Given the description of an element on the screen output the (x, y) to click on. 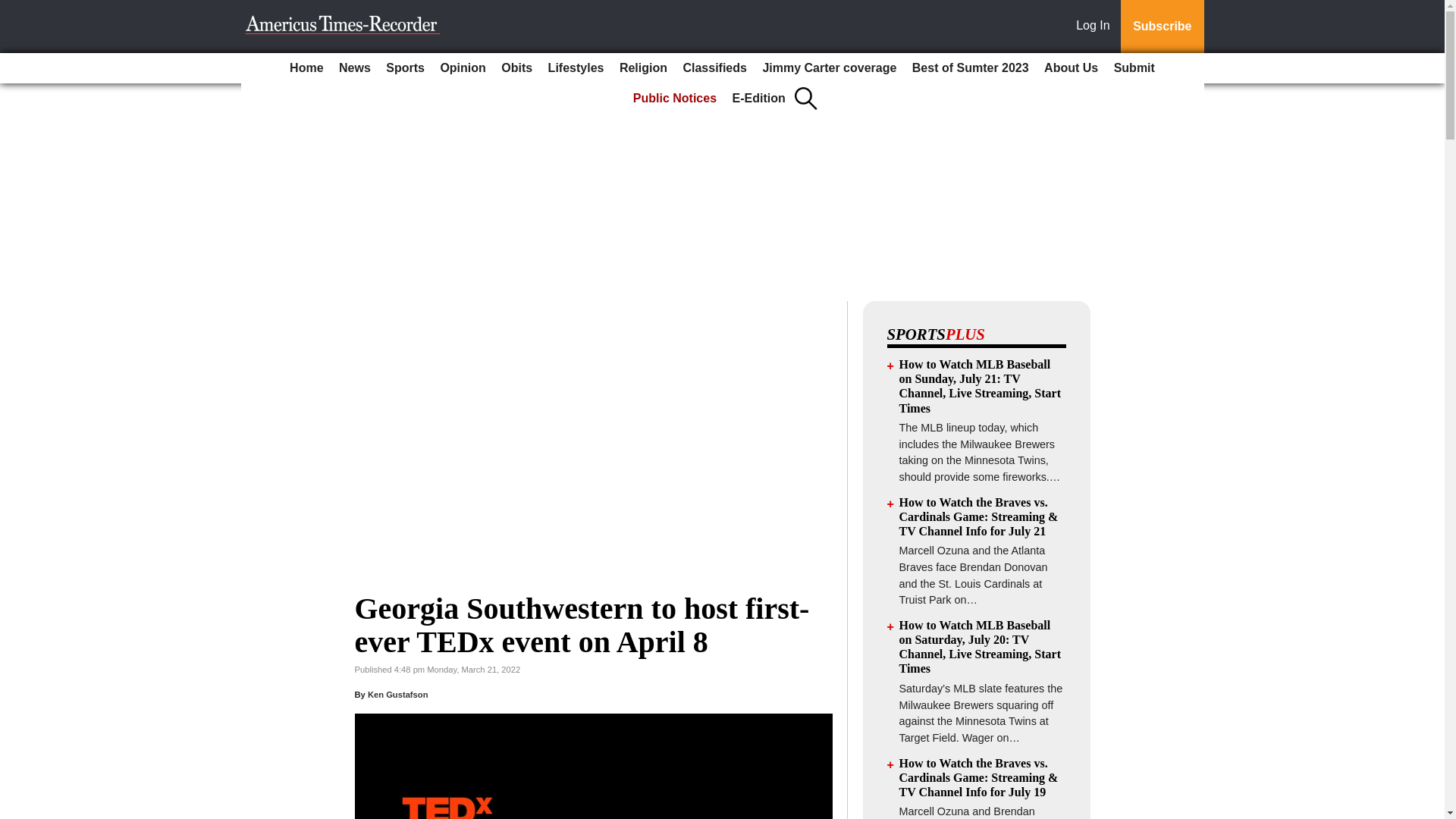
Obits (516, 68)
E-Edition (759, 98)
About Us (1070, 68)
Log In (1095, 26)
News (355, 68)
Home (306, 68)
Religion (642, 68)
Ken Gustafson (398, 694)
Submit (1134, 68)
Sports (405, 68)
Opinion (462, 68)
Jimmy Carter coverage (828, 68)
Subscribe (1162, 26)
Public Notices (674, 98)
Best of Sumter 2023 (970, 68)
